Given the description of an element on the screen output the (x, y) to click on. 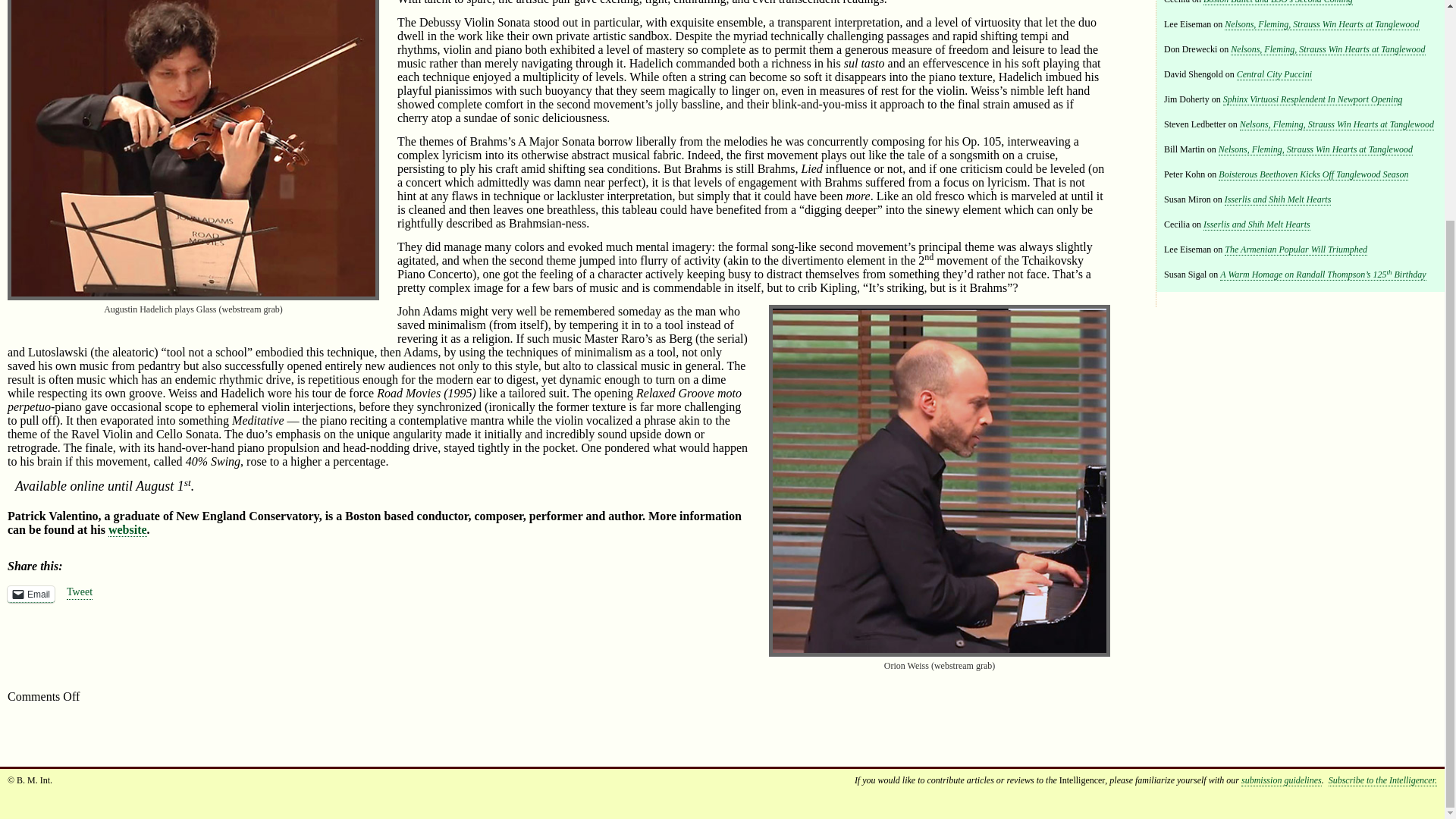
Nelsons, Fleming, Strauss Win Hearts at Tanglewood (1327, 49)
The Armenian Popular Will Triumphed (1295, 249)
Nelsons, Fleming, Strauss Win Hearts at Tanglewood (1321, 24)
Isserlis and Shih Melt Hearts (1257, 224)
Nelsons, Fleming, Strauss Win Hearts at Tanglewood (1315, 149)
Click to email a link to a friend (31, 594)
Tweet (79, 592)
Sphinx Virtuosi Resplendent In Newport Opening (1313, 99)
Subscribe to the Intelligencer. (1382, 780)
Isserlis and Shih Melt Hearts (1278, 199)
website (127, 530)
Central City Puccini (1273, 74)
Boisterous Beethoven Kicks Off Tanglewood Season (1312, 174)
submission guidelines (1281, 780)
Nelsons, Fleming, Strauss Win Hearts at Tanglewood (1337, 124)
